Given the description of an element on the screen output the (x, y) to click on. 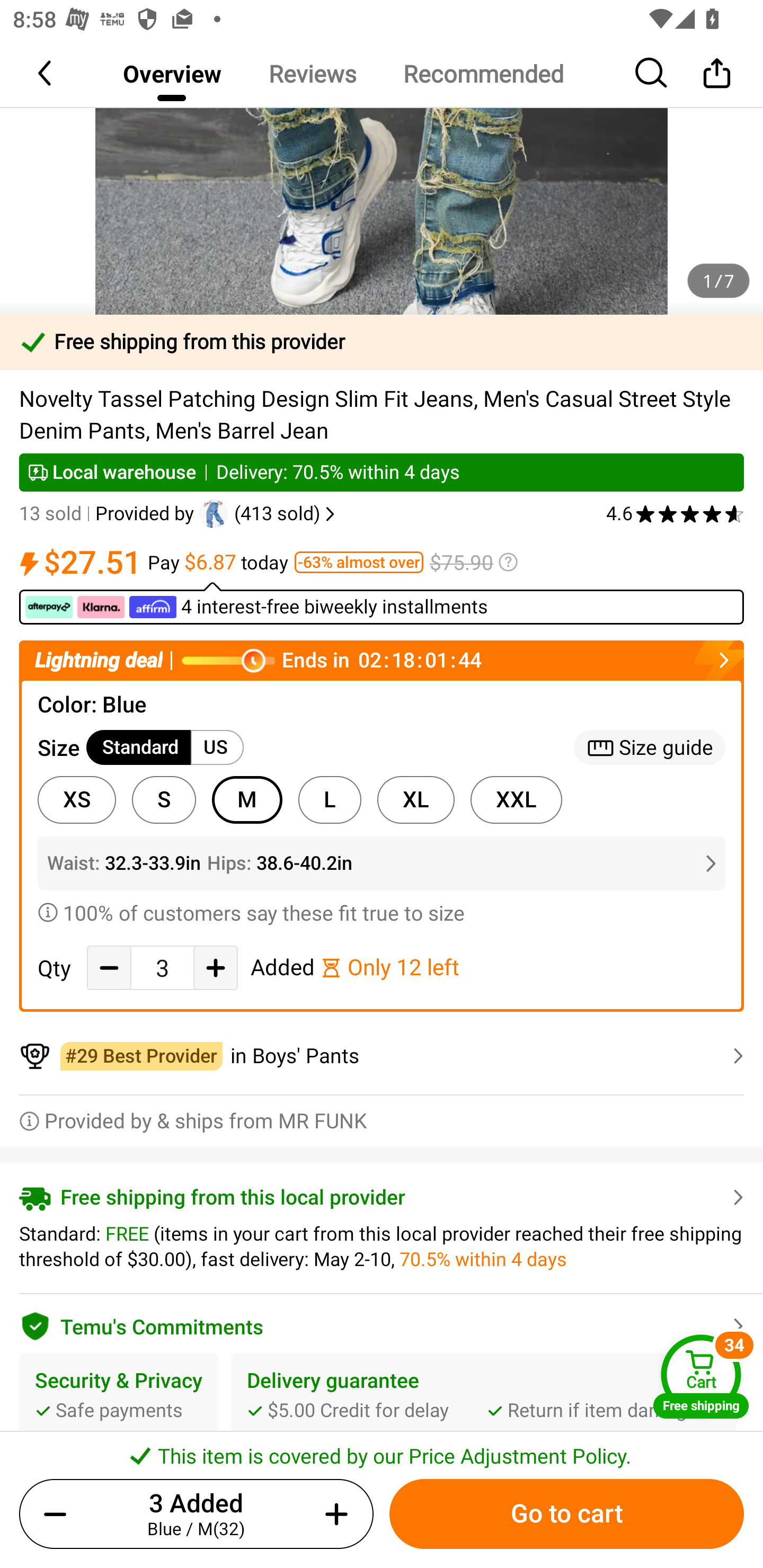
Overview (171, 72)
Reviews (311, 72)
Recommended (482, 72)
Back (46, 72)
Share (716, 72)
Free shipping from this provider (381, 342)
Local warehouse Delivery: 70.5% within 4 days (381, 472)
13 sold Provided by  (109, 514)
4.6 (674, 514)
￼ ￼ ￼ 4 interest-free biweekly installments (381, 602)
Lightning deal Ends in￼￼ (381, 659)
Standard (138, 747)
US (216, 747)
 Size guide (649, 747)
XS (76, 799)
S (163, 799)
M (247, 799)
L (329, 799)
XL (415, 799)
XXL (516, 799)
Waist: 32.3-33.9in￼Hips: 38.6-40.2in￼ (381, 862)
  100% of customers say these fit true to size (381, 912)
Decrease Quantity Button (108, 967)
Add Quantity button (215, 967)
3 (162, 968)
￼￼in Boys' Pants (381, 1055)
Temu's Commitments (381, 1323)
Cart Free shipping Cart (701, 1375)
Security & Privacy Safe payments Secure privacy (118, 1410)
Decrease Quantity Button (59, 1513)
Add Quantity button (332, 1513)
Go to cart (566, 1513)
